Given the description of an element on the screen output the (x, y) to click on. 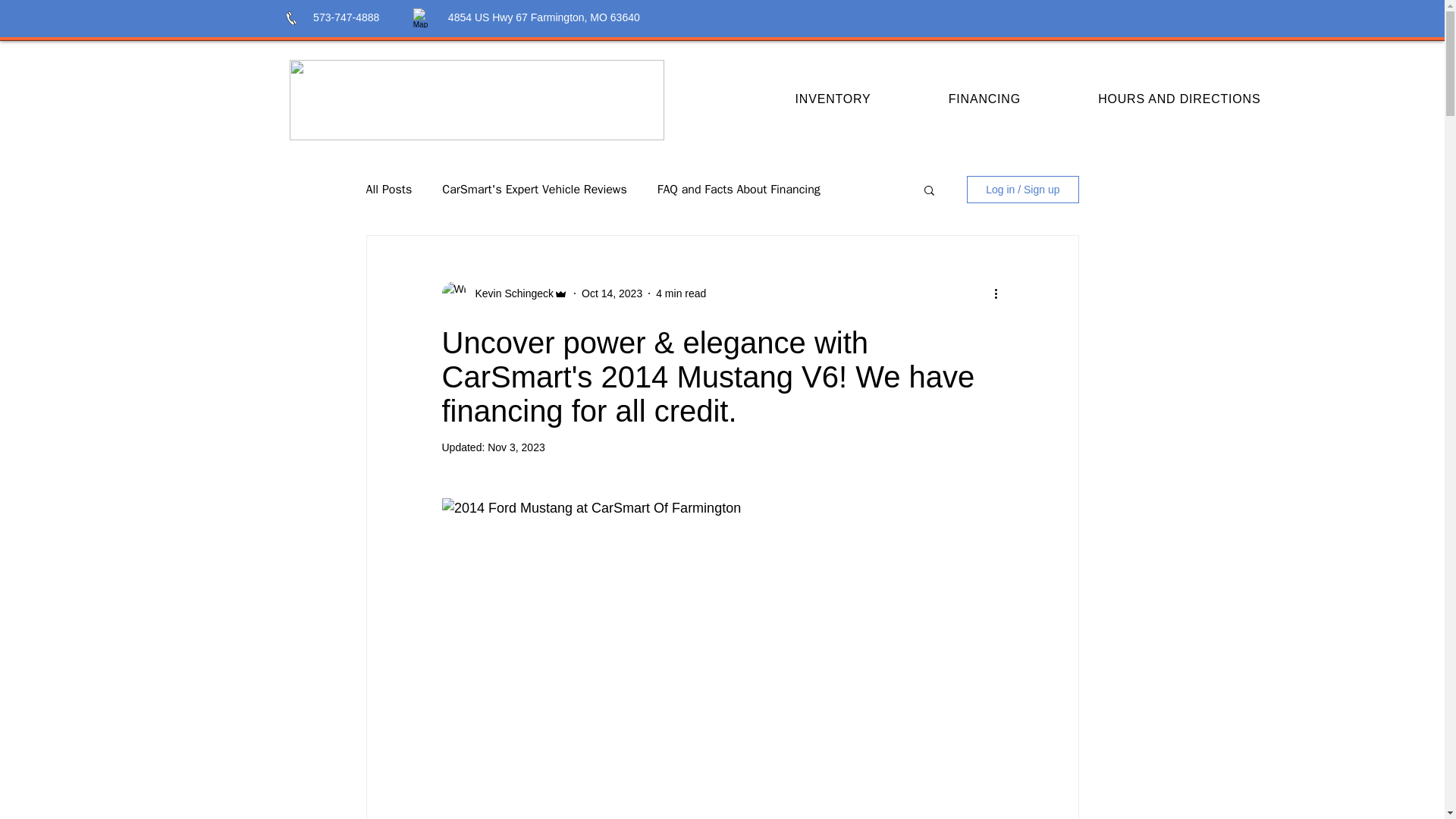
FINANCING (984, 99)
4 min read (681, 292)
CarSmart's Expert Vehicle Reviews (534, 189)
FAQ and Facts About Financing (739, 189)
logo.png (476, 99)
All Posts (388, 189)
HOURS AND DIRECTIONS (1178, 99)
Oct 14, 2023 (611, 292)
Kevin Schingeck (509, 293)
Nov 3, 2023 (515, 447)
INVENTORY (833, 99)
